Given the description of an element on the screen output the (x, y) to click on. 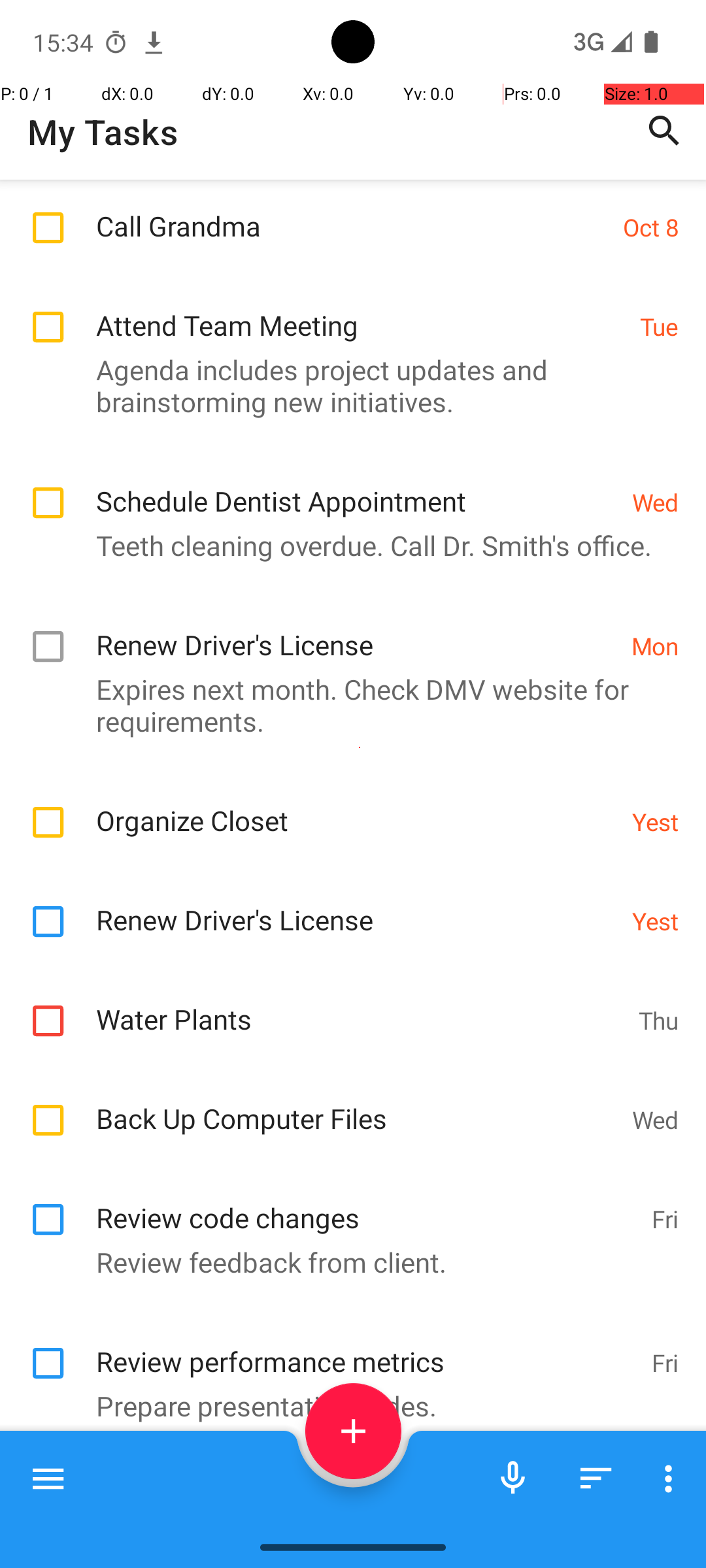
Review code changes Element type: android.widget.TextView (367, 1203)
Review feedback from client. Element type: android.widget.TextView (346, 1261)
Review performance metrics Element type: android.widget.TextView (367, 1347)
Prepare presentation slides. Element type: android.widget.TextView (346, 1405)
Draft marketing email Element type: android.widget.TextView (367, 1490)
